Given the description of an element on the screen output the (x, y) to click on. 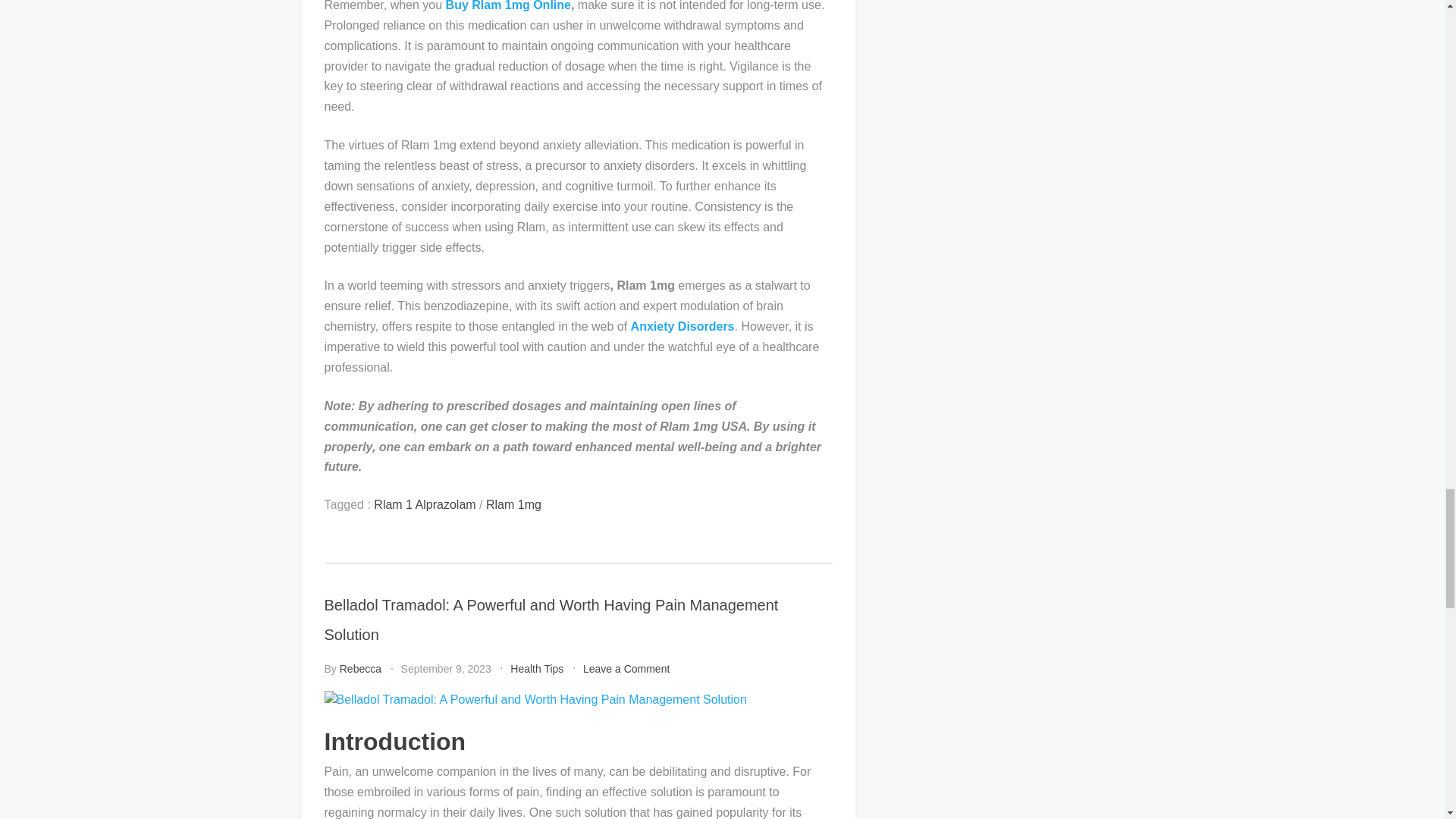
Rebecca (360, 668)
Rlam 1 Alprazolam (425, 504)
Buy Rlam 1mg Online (507, 5)
Anxiety Disorders (682, 326)
September 9, 2023 (446, 668)
Rlam 1mg (513, 504)
